Given the description of an element on the screen output the (x, y) to click on. 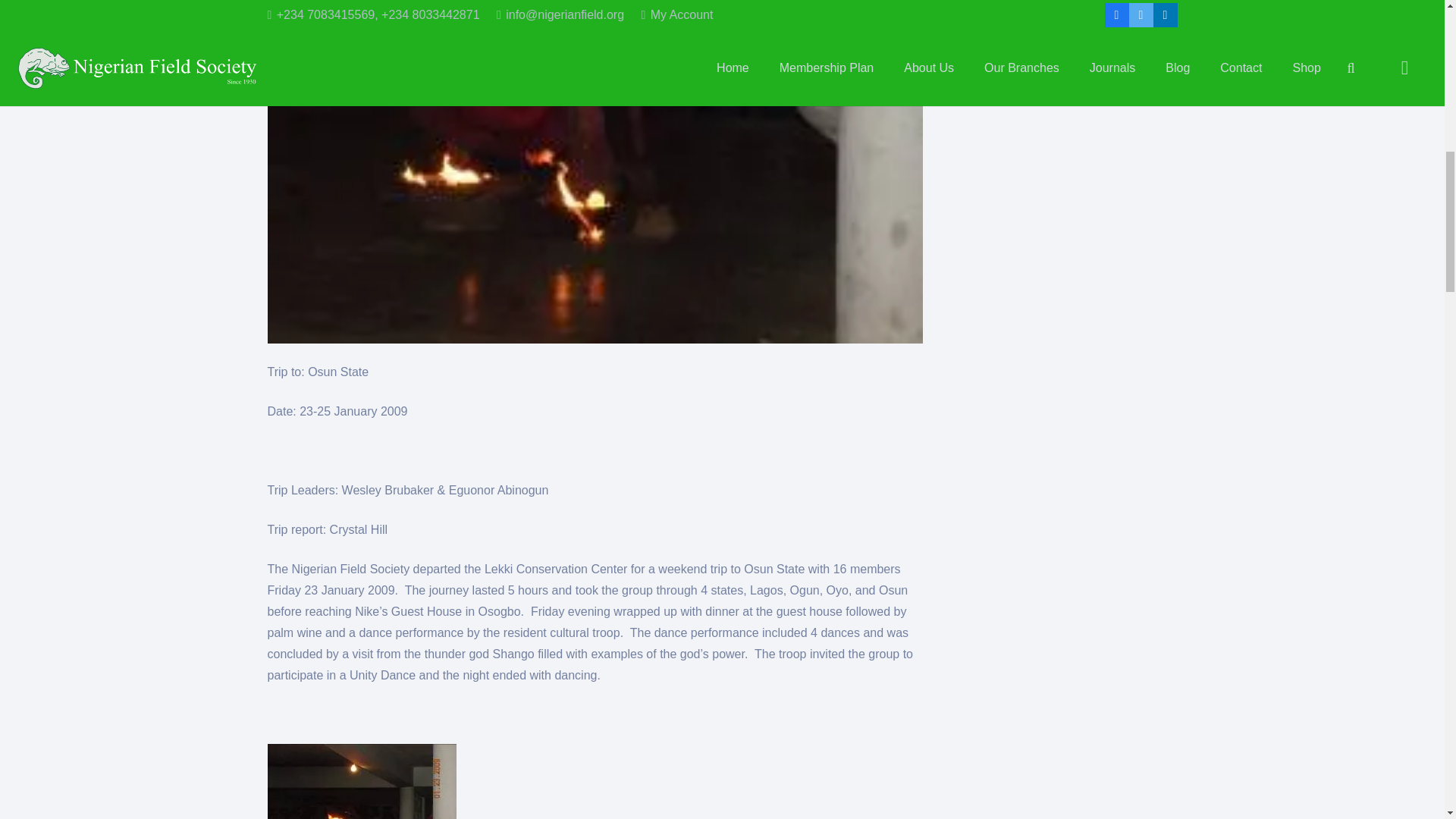
The thunder god (360, 781)
